Given the description of an element on the screen output the (x, y) to click on. 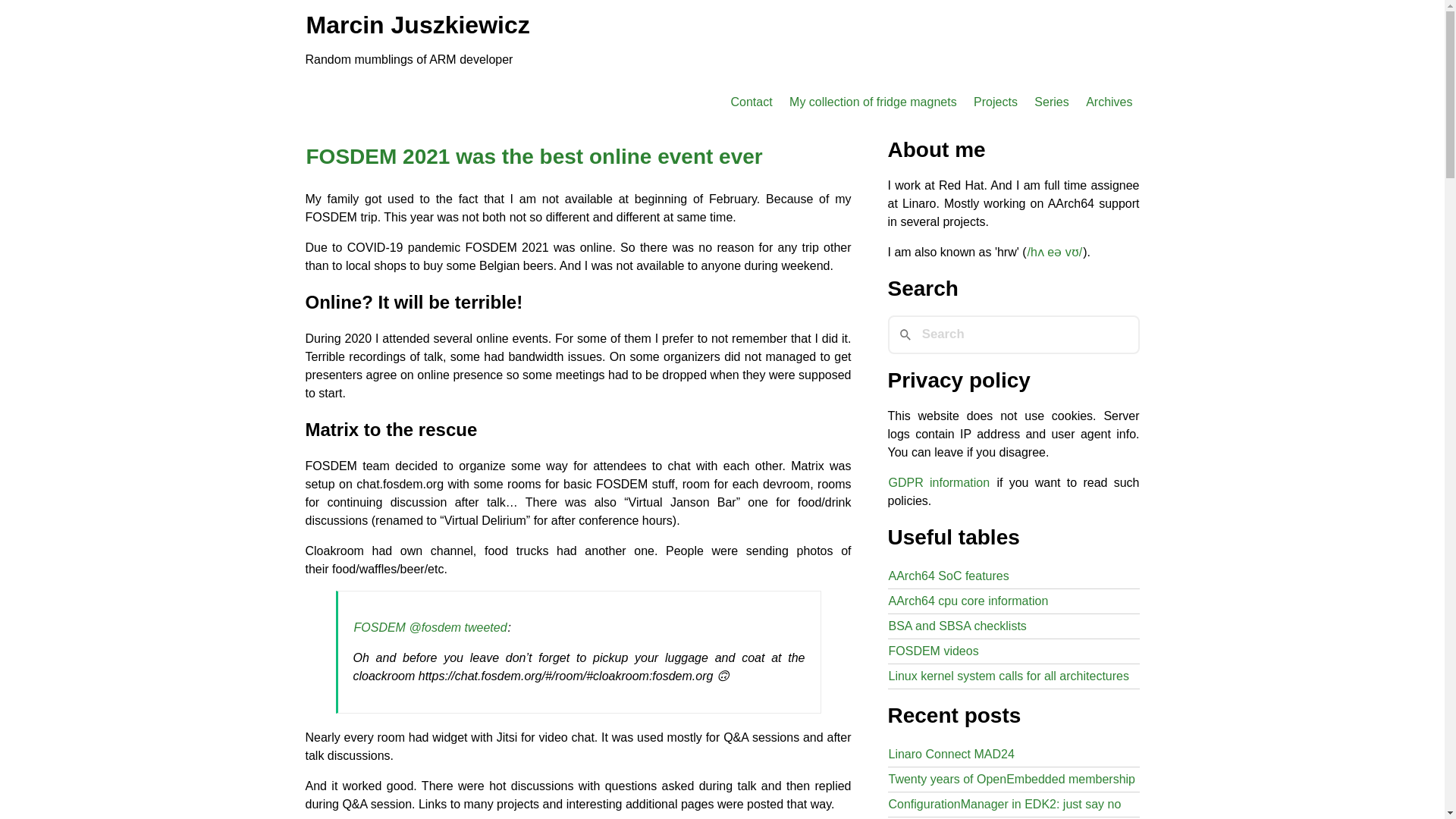
Marcin Juszkiewicz (416, 24)
Contact (751, 101)
FOSDEM 2021 was the best online event ever (533, 156)
